Given the description of an element on the screen output the (x, y) to click on. 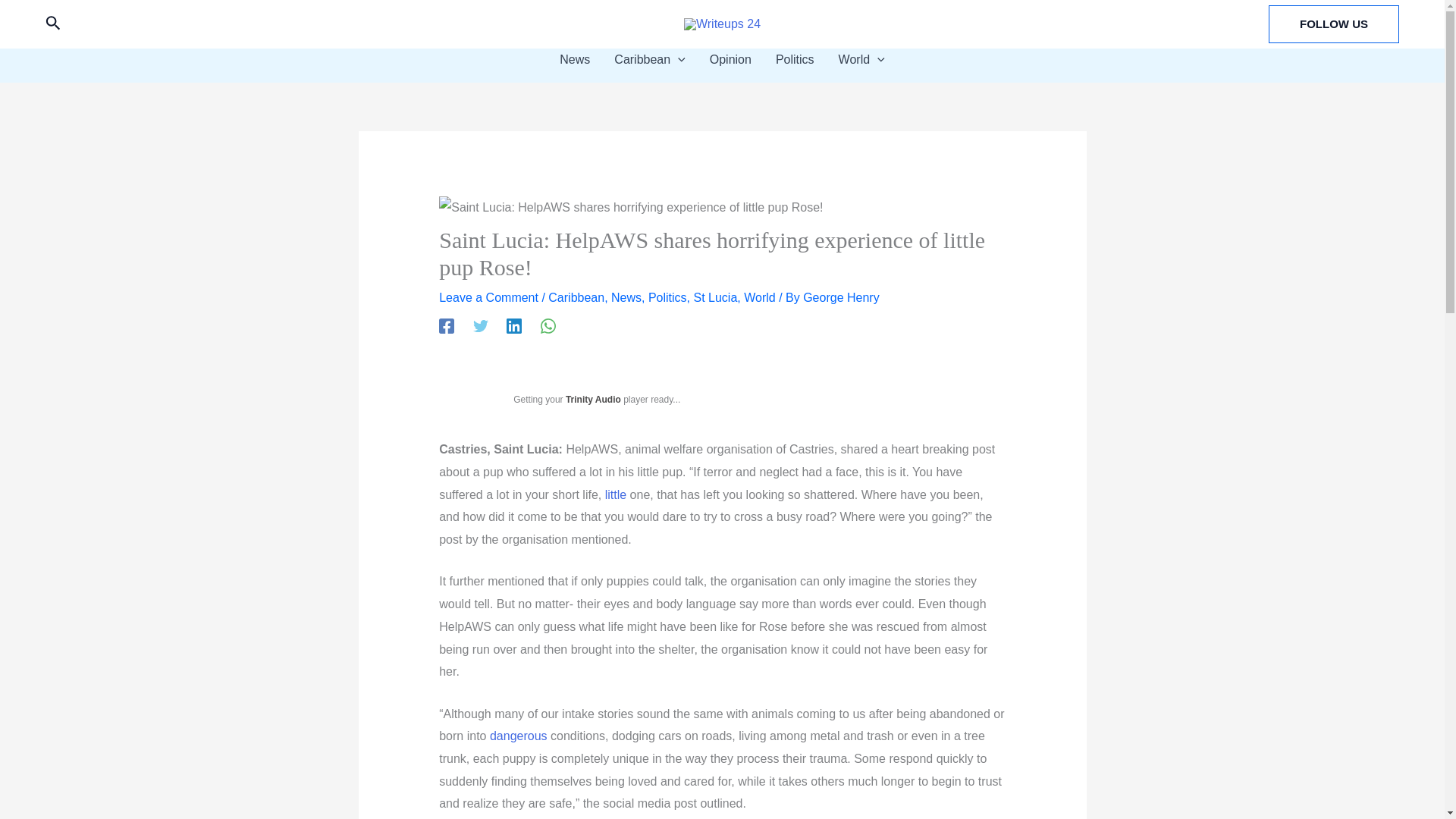
Caribbean (576, 297)
FOLLOW US (1333, 23)
View all posts by George Henry (841, 297)
World (760, 297)
Politics (667, 297)
Caribbean (649, 59)
World (861, 59)
Leave a Comment (488, 297)
George Henry (841, 297)
St Lucia (714, 297)
